Given the description of an element on the screen output the (x, y) to click on. 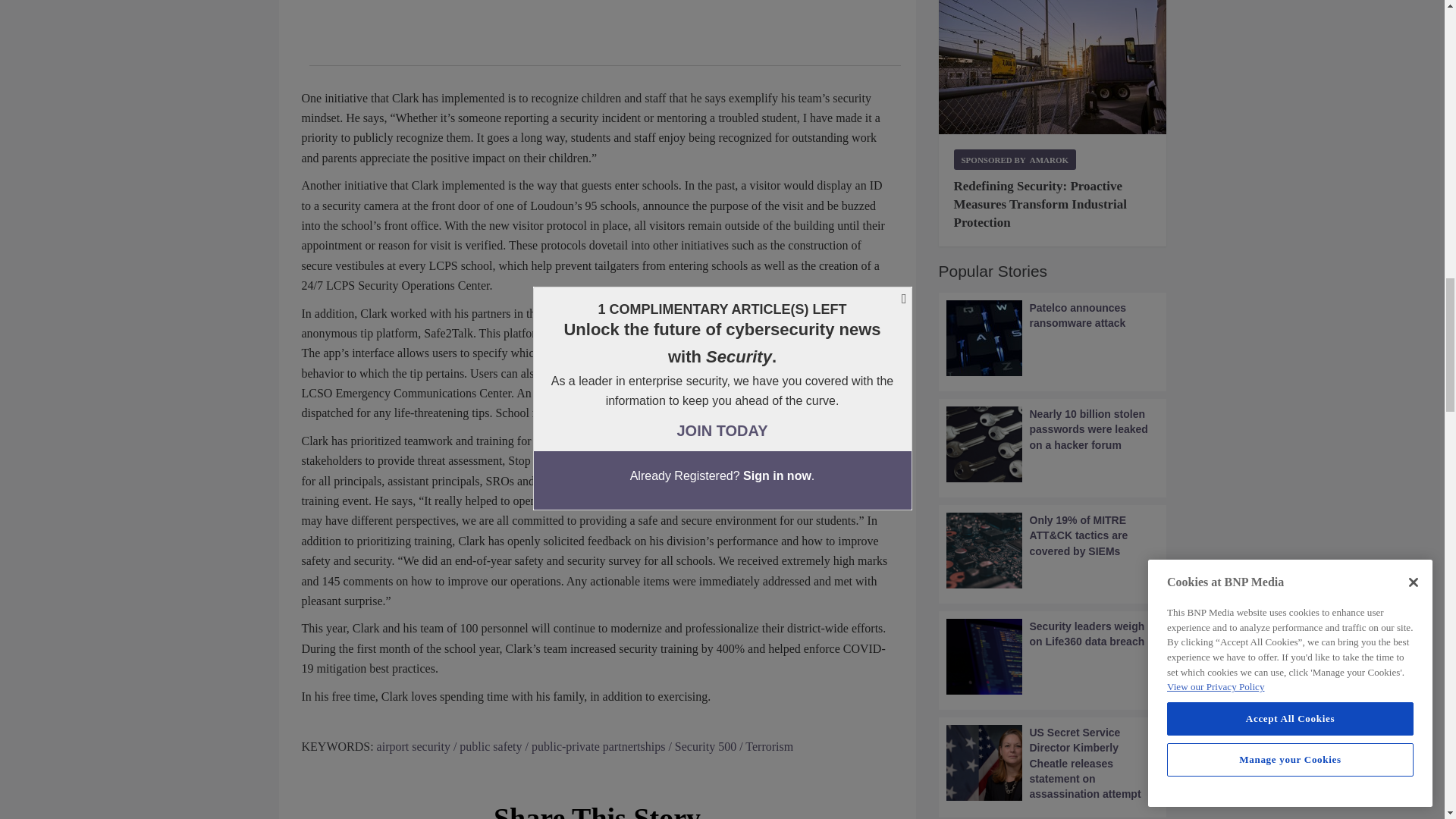
AMAROK Security Gate (1052, 67)
Sponsored by AMAROK (1015, 159)
Security leaders weigh in on Life360 data breach (1052, 656)
Patelco announces ransomware attack (1052, 337)
